Given the description of an element on the screen output the (x, y) to click on. 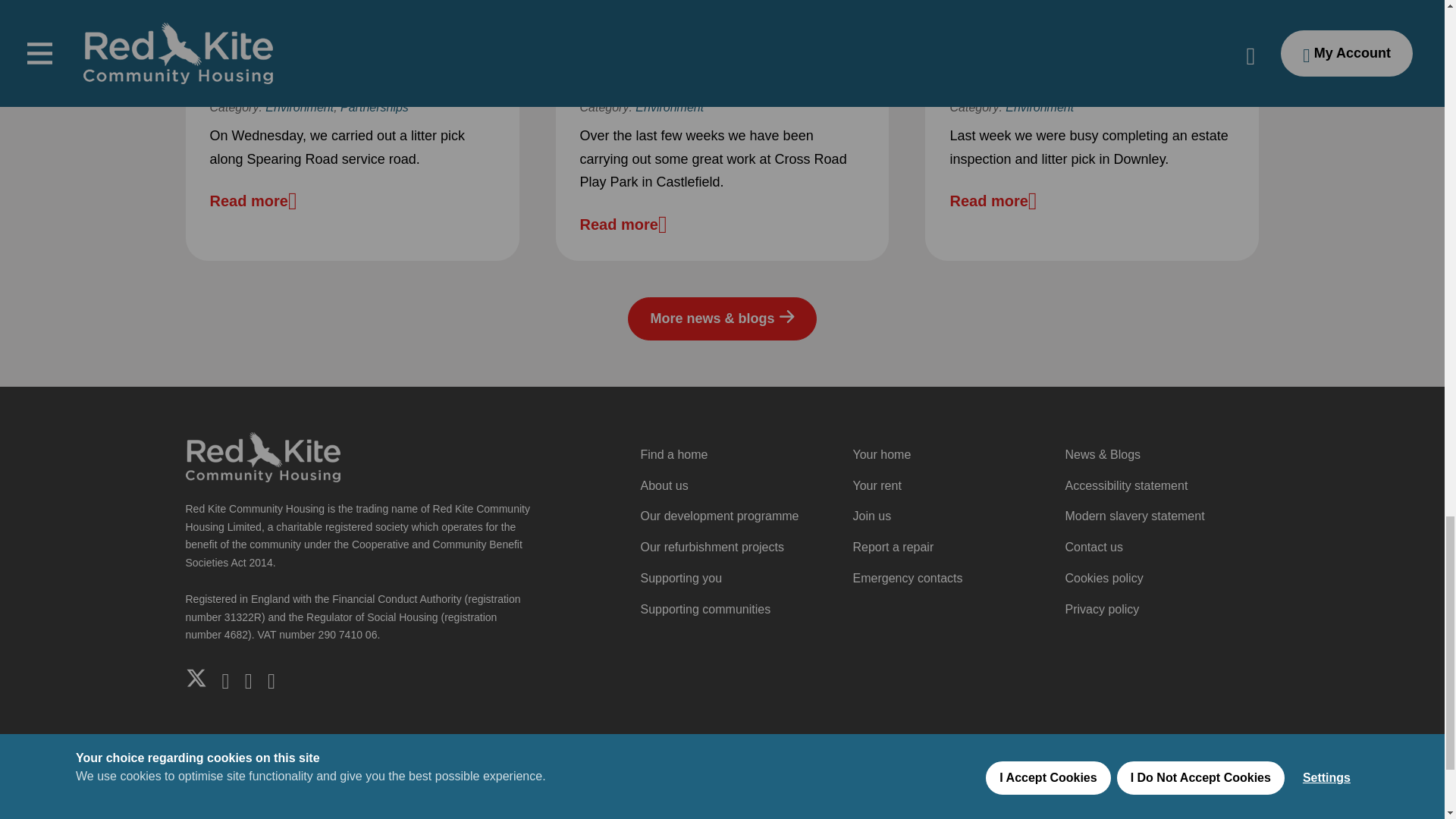
Home (261, 455)
